Given the description of an element on the screen output the (x, y) to click on. 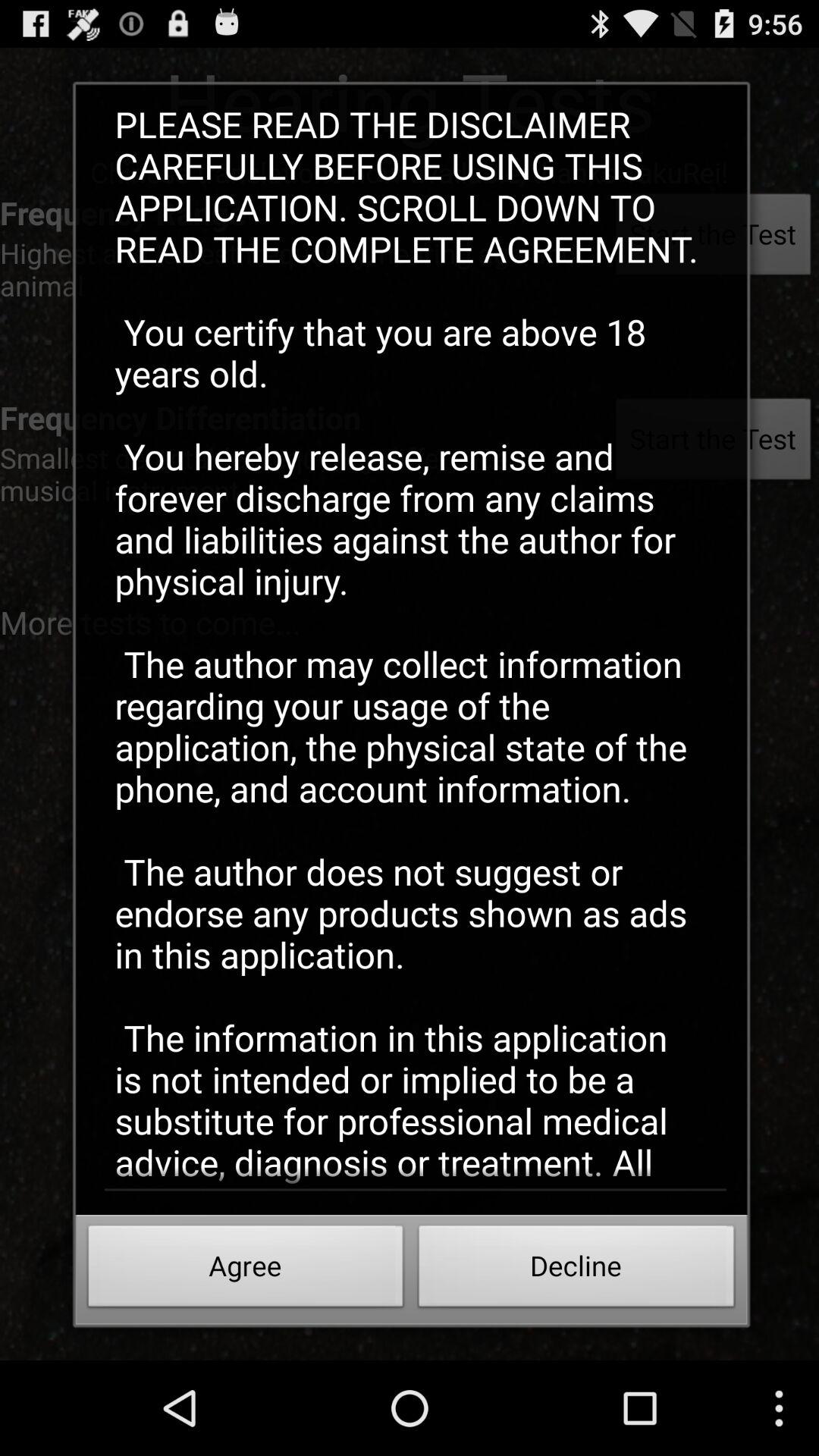
select button next to the decline (245, 1270)
